Given the description of an element on the screen output the (x, y) to click on. 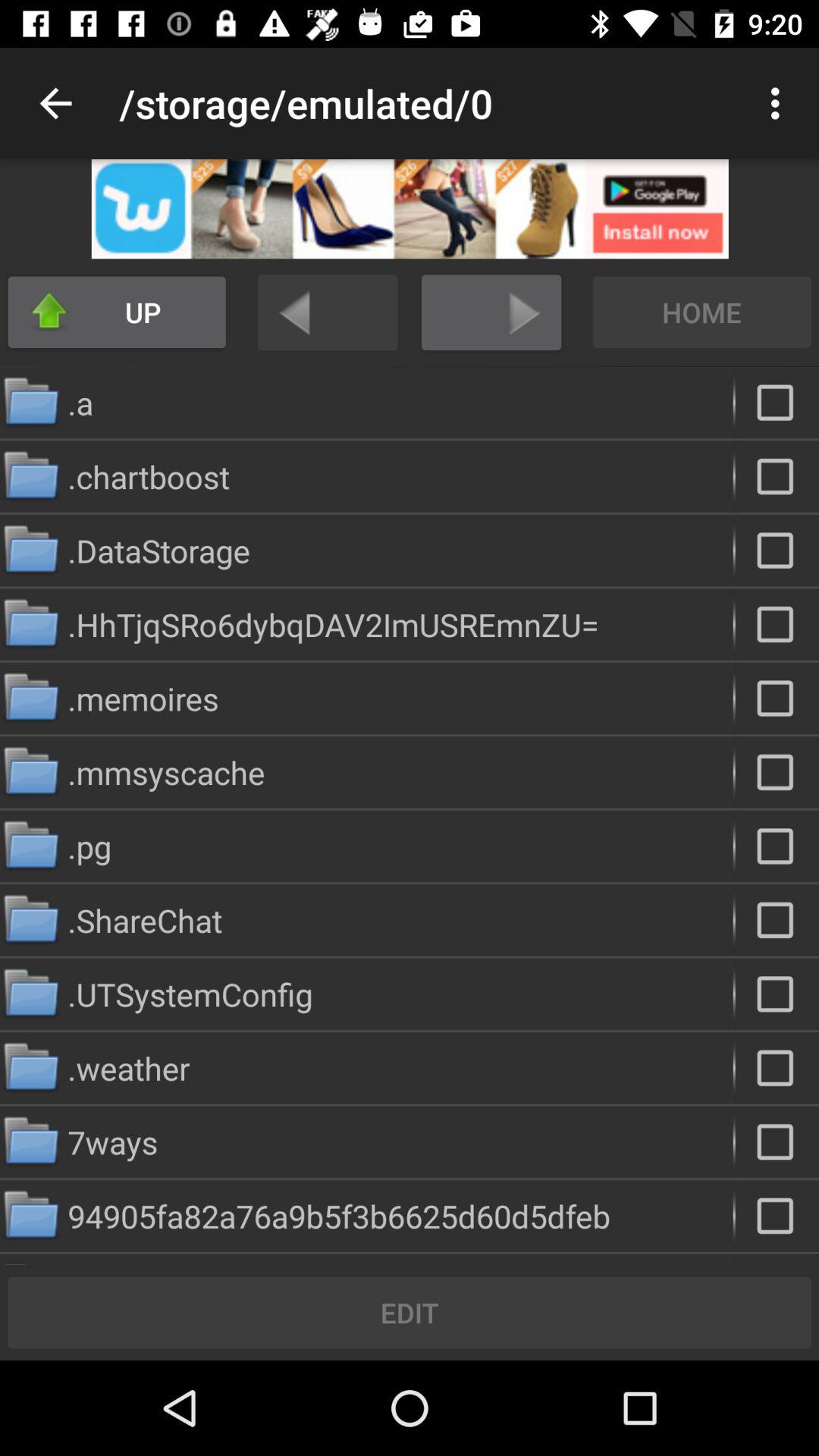
choose a folder (777, 550)
